Given the description of an element on the screen output the (x, y) to click on. 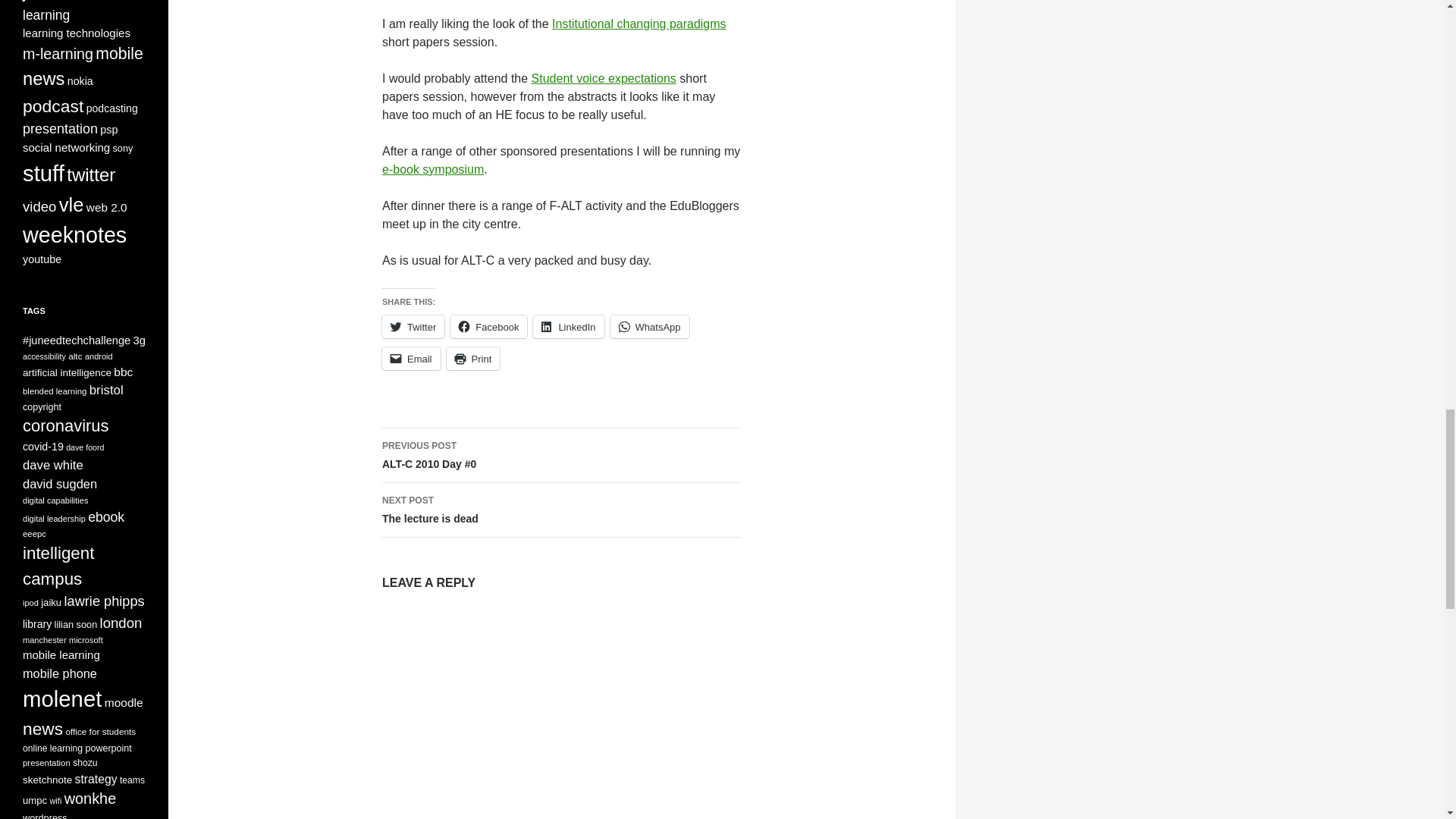
Twitter (412, 326)
Click to email a link to a friend (411, 358)
Click to share on Twitter (412, 326)
Click to share on Facebook (561, 510)
Print (488, 326)
Click to print (473, 358)
Click to share on LinkedIn (473, 358)
Facebook (568, 326)
e-book symposium (488, 326)
